Given the description of an element on the screen output the (x, y) to click on. 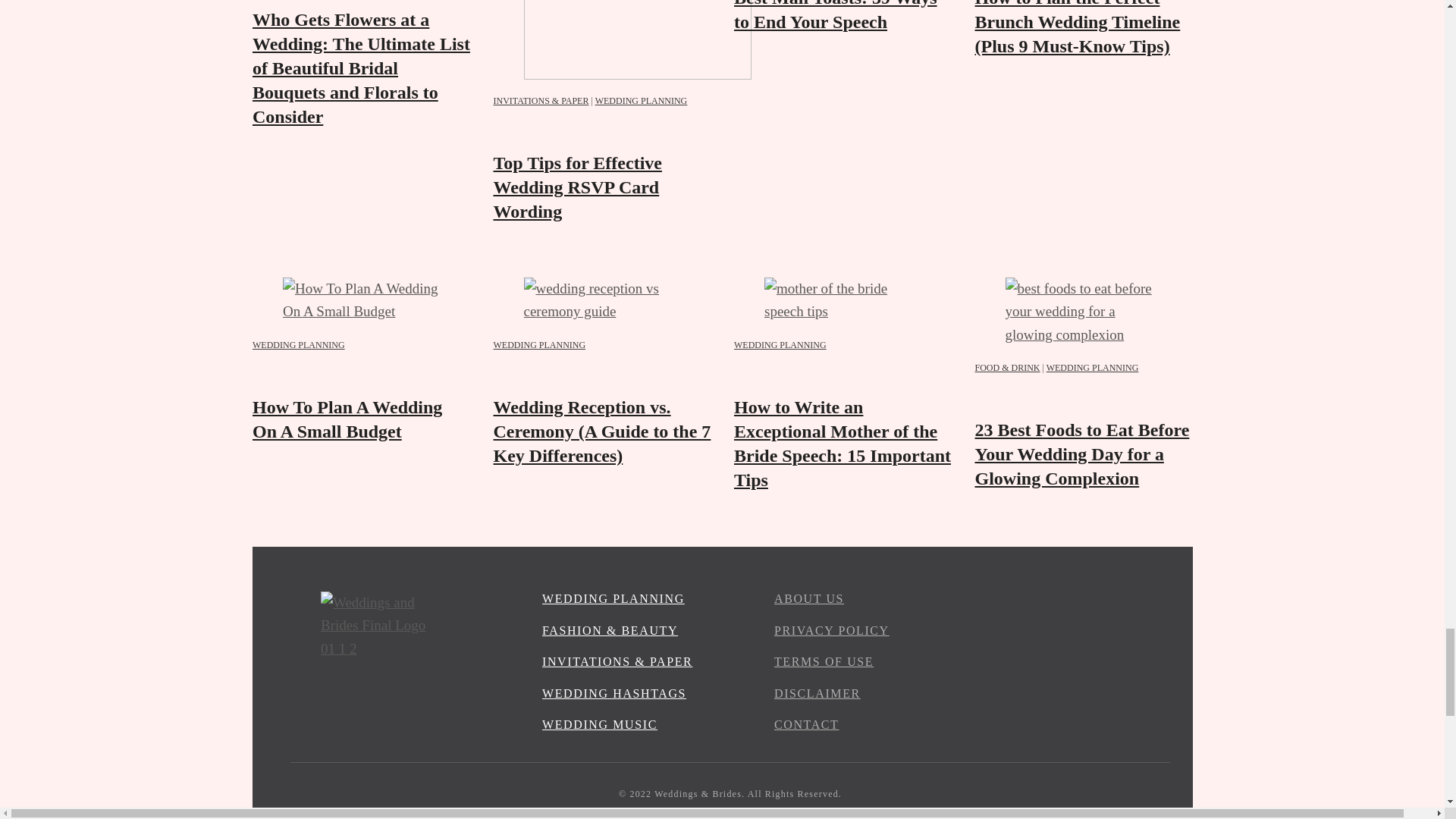
Weddings-and-Brides-Final-Logo-01-1-2 (377, 727)
